Given the description of an element on the screen output the (x, y) to click on. 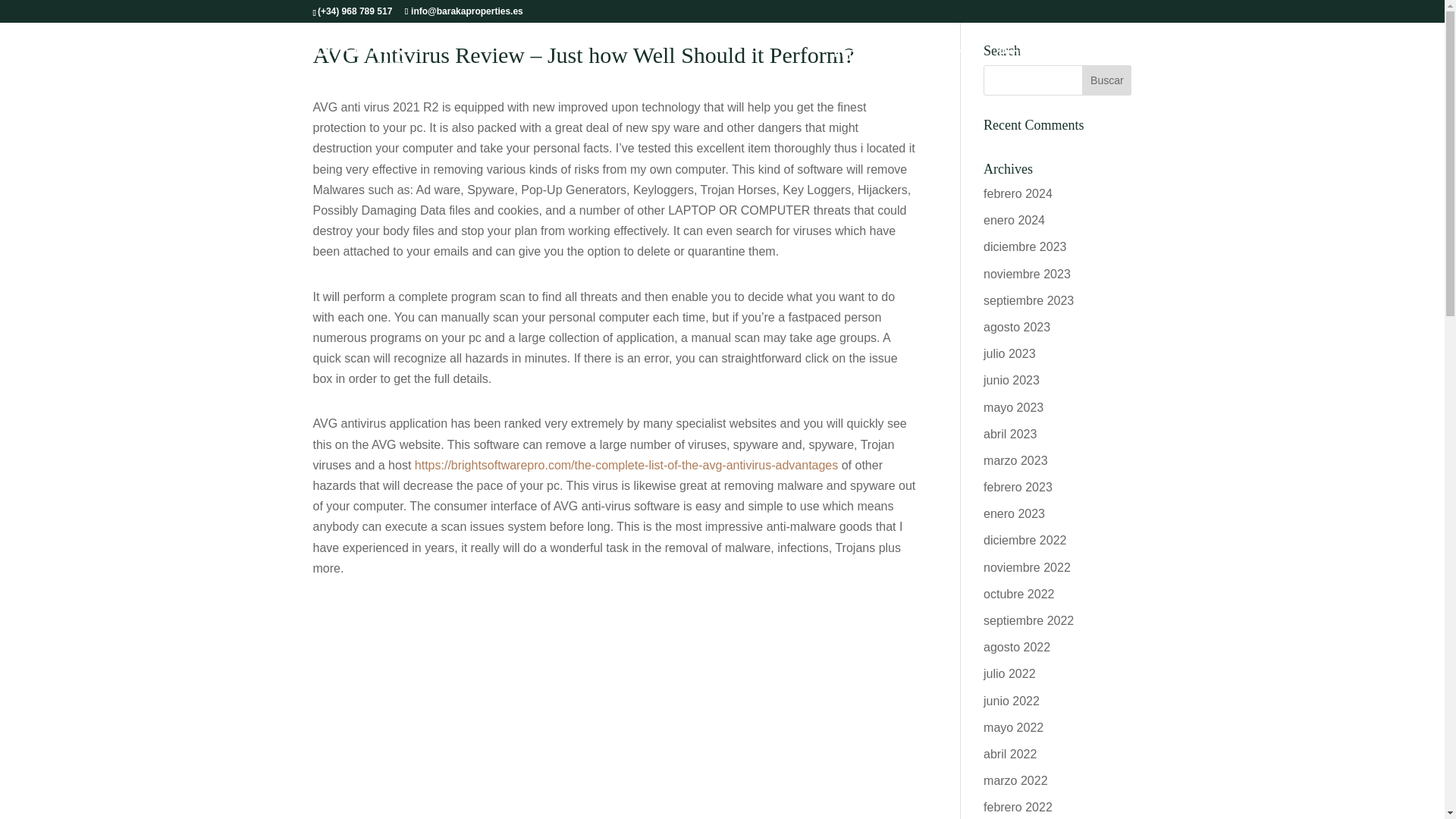
Proyectos (1027, 52)
abril 2023 (1010, 433)
febrero 2024 (1018, 193)
junio 2023 (1011, 379)
marzo 2022 (1016, 780)
noviembre 2022 (1027, 567)
febrero 2023 (1018, 486)
febrero 2022 (1018, 807)
septiembre 2022 (1029, 620)
octubre 2022 (1019, 594)
